Given the description of an element on the screen output the (x, y) to click on. 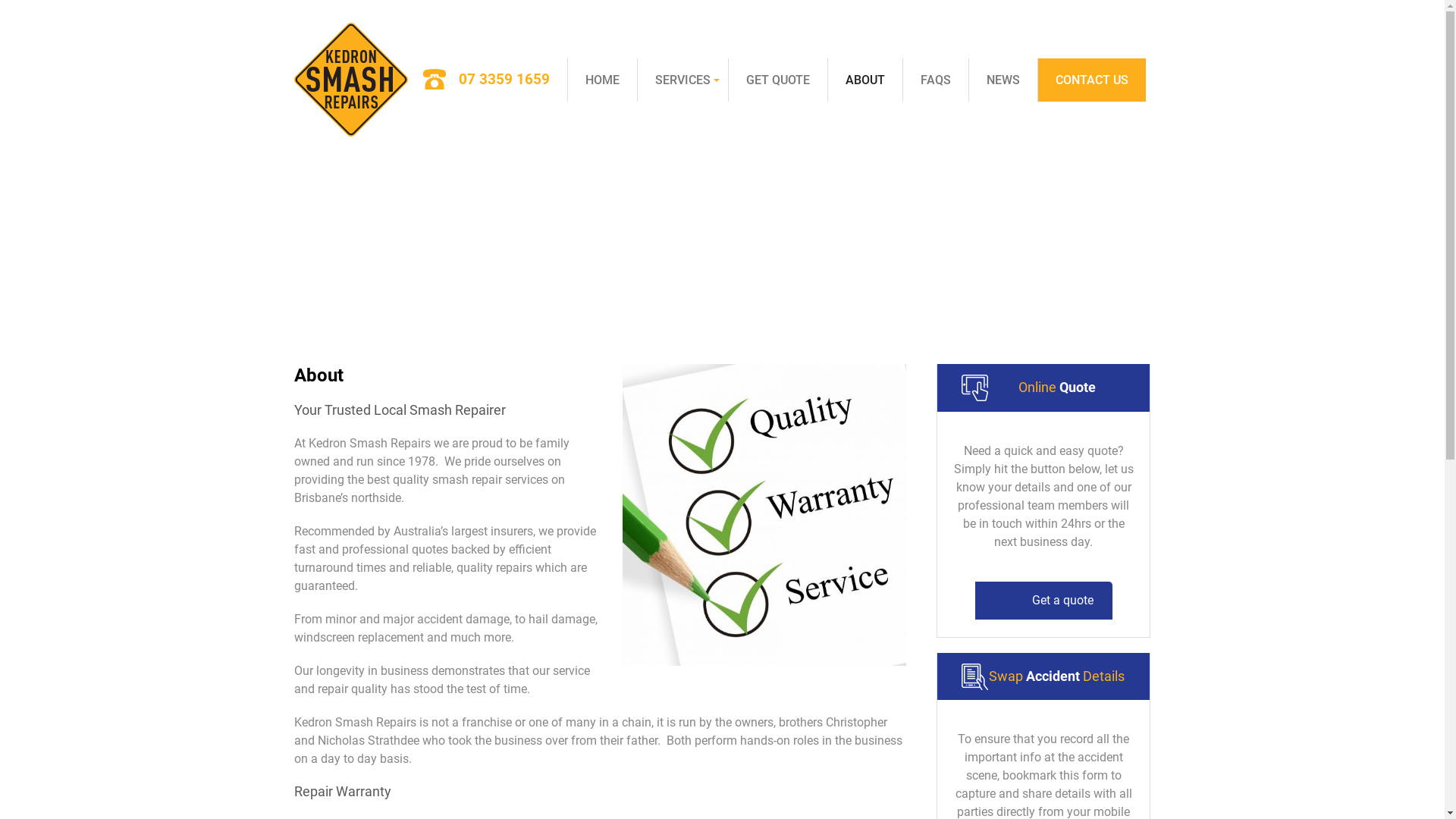
ABOUT Element type: text (863, 79)
CONTACT US Element type: text (1091, 79)
NEWS Element type: text (1001, 79)
Get a quote Element type: text (1043, 599)
GET QUOTE Element type: text (777, 79)
HOME Element type: text (602, 79)
SERVICES Element type: text (682, 79)
FAQS Element type: text (935, 79)
07 3359 1659 Element type: text (487, 79)
